Given the description of an element on the screen output the (x, y) to click on. 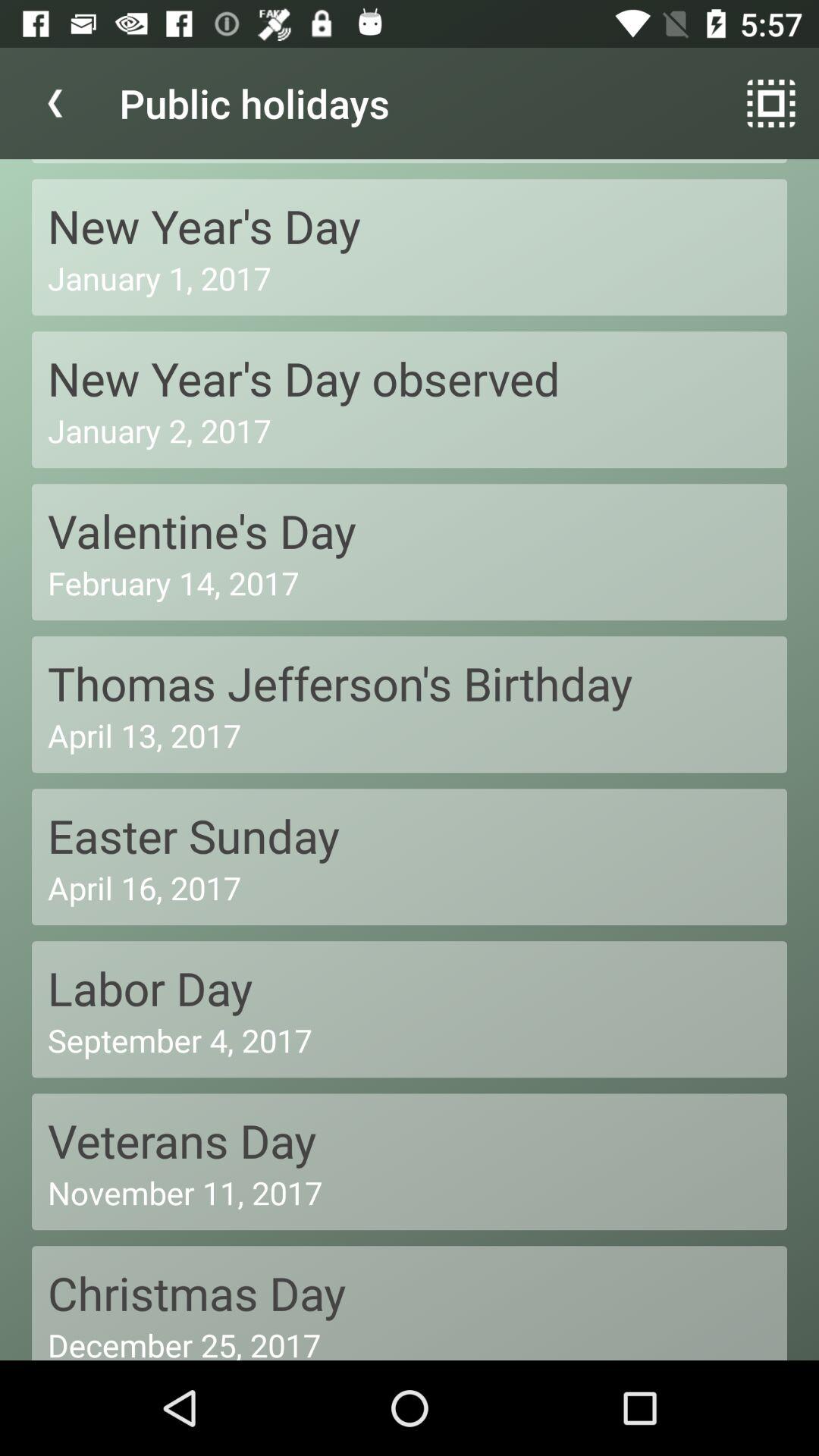
choose icon next to the public holidays app (55, 103)
